Given the description of an element on the screen output the (x, y) to click on. 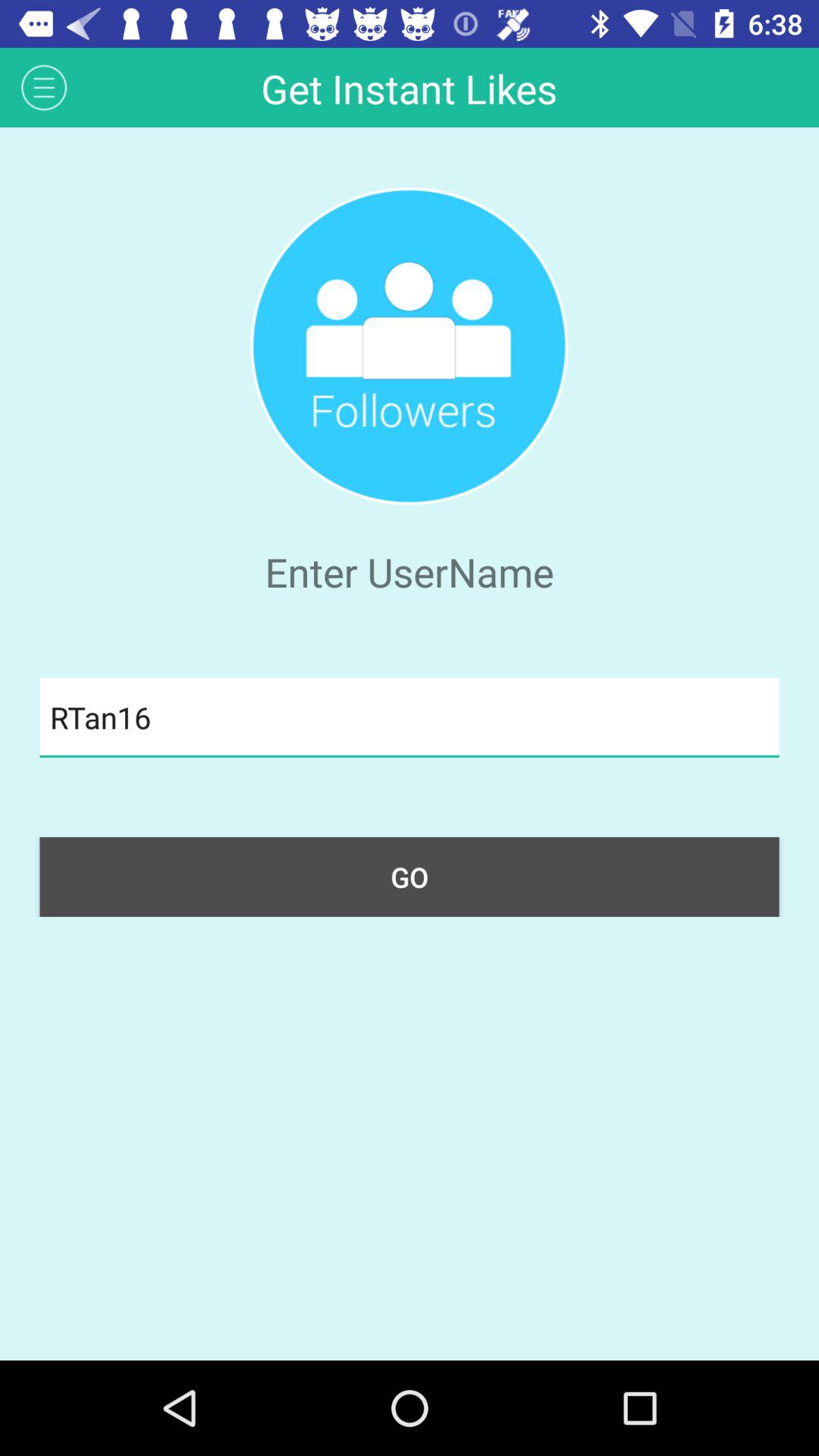
select go item (409, 876)
